Given the description of an element on the screen output the (x, y) to click on. 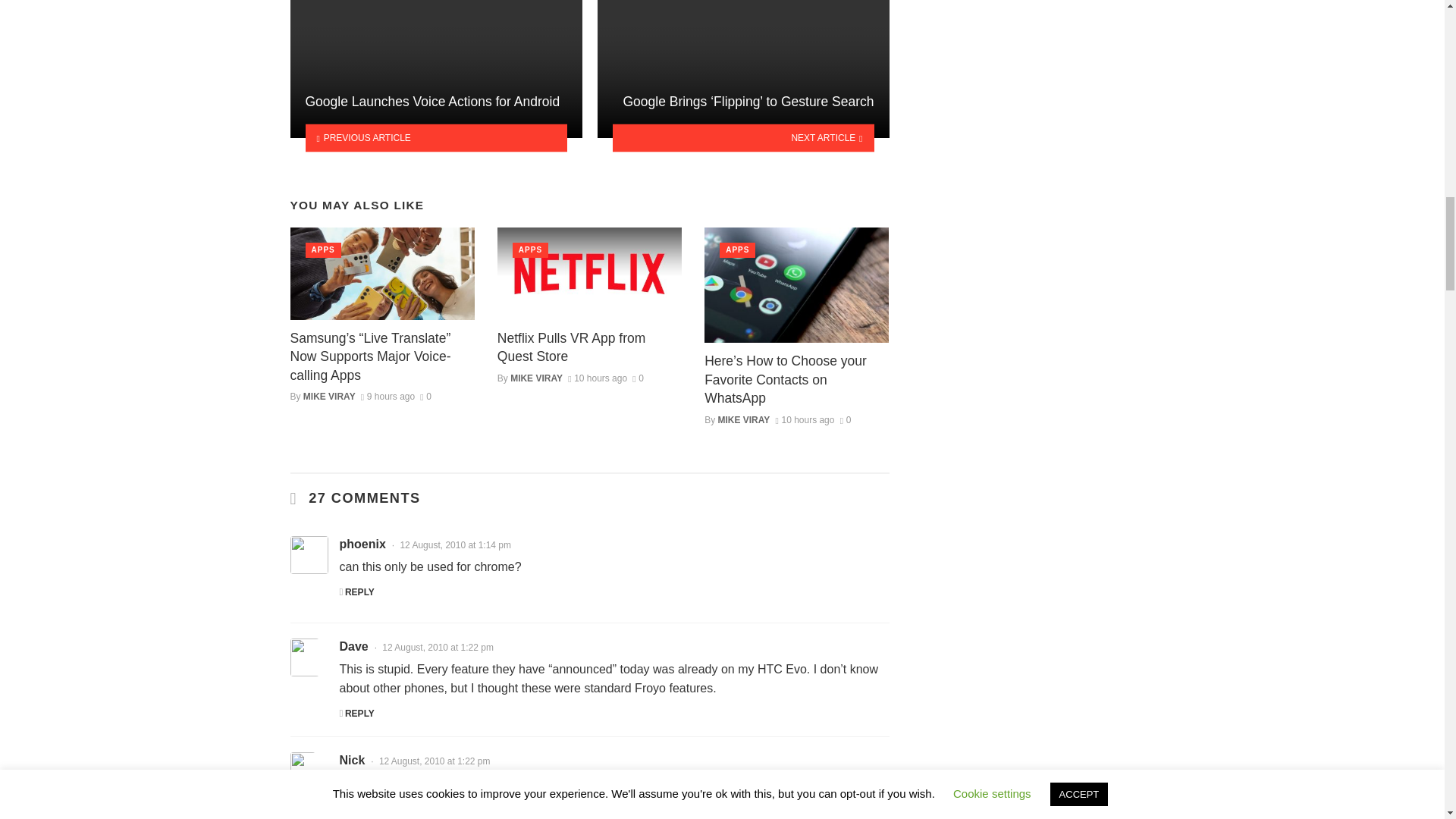
July 17, 2024 at 4:11 pm (804, 419)
0 Comments (637, 378)
July 17, 2024 at 5:13 pm (387, 396)
July 17, 2024 at 4:50 pm (597, 378)
0 Comments (425, 396)
PREVIOUS ARTICLE (434, 137)
